Given the description of an element on the screen output the (x, y) to click on. 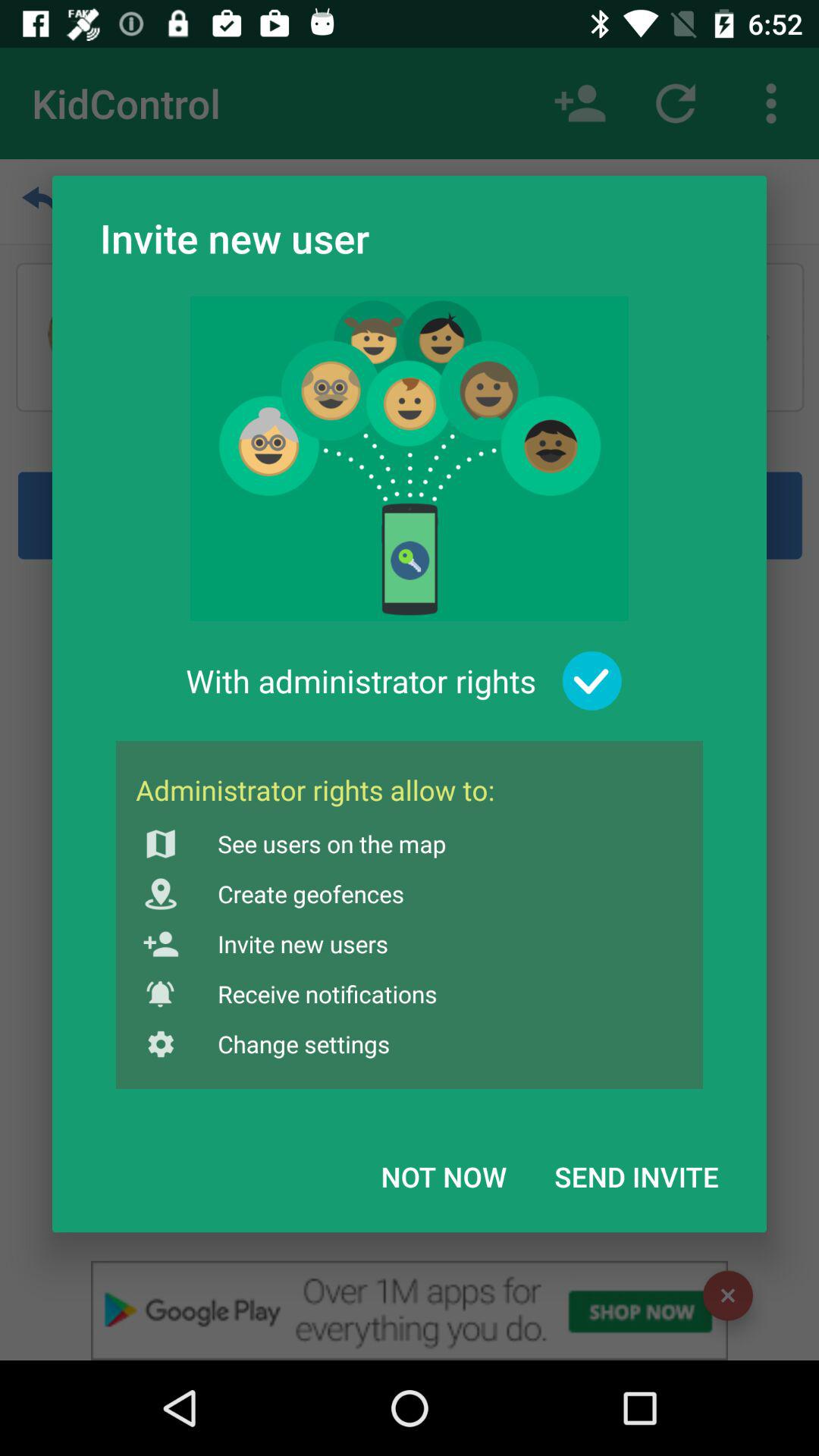
swipe to send invite (636, 1176)
